Given the description of an element on the screen output the (x, y) to click on. 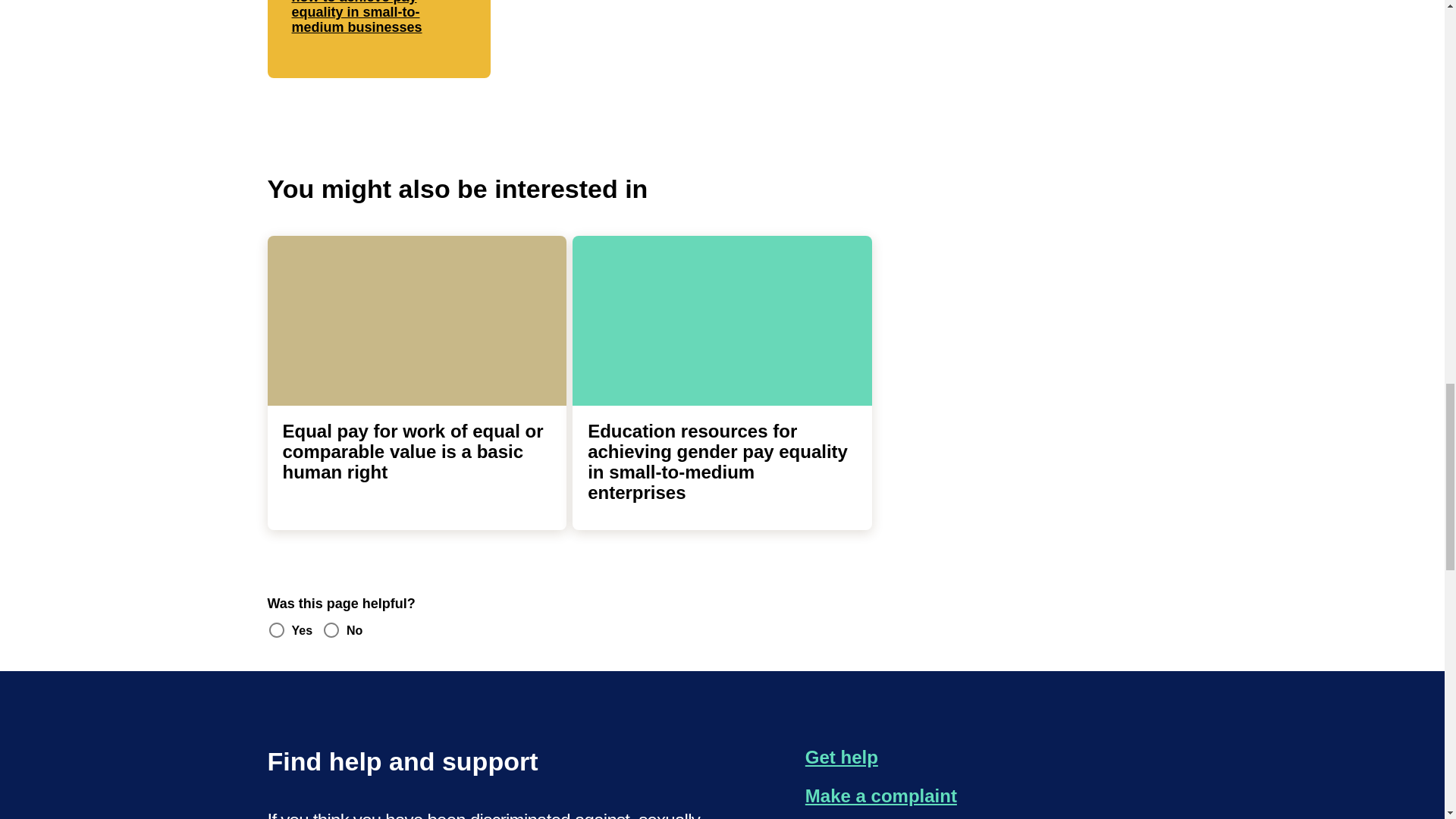
Make a complaint (880, 795)
Get help (841, 757)
